Given the description of an element on the screen output the (x, y) to click on. 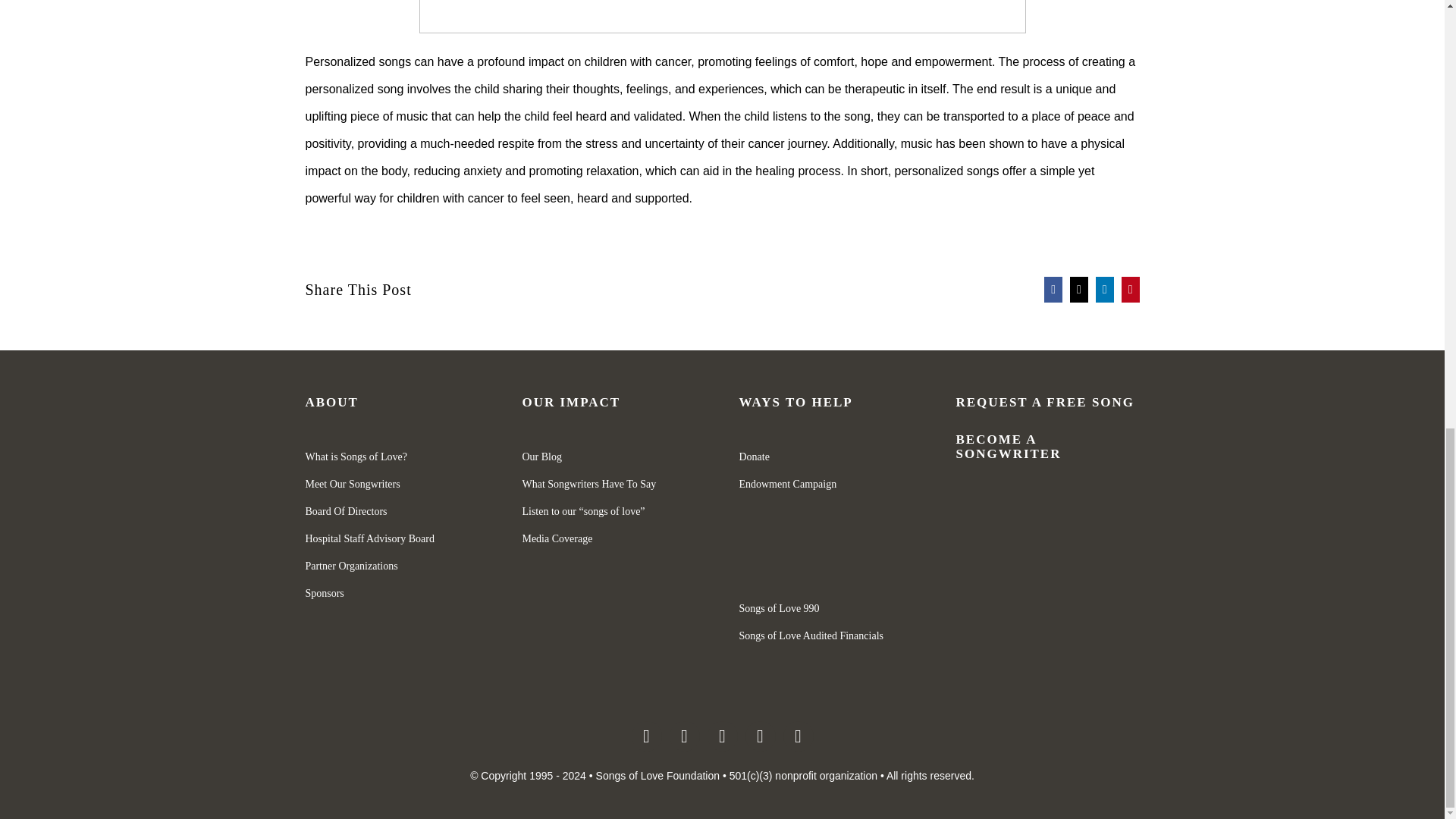
Instagram (683, 736)
Tiktok (797, 736)
Facebook (645, 736)
YouTube (759, 736)
X (1078, 289)
LinkedIn (1104, 289)
X (721, 736)
Pinterest (1130, 289)
Facebook (1052, 289)
